Given the description of an element on the screen output the (x, y) to click on. 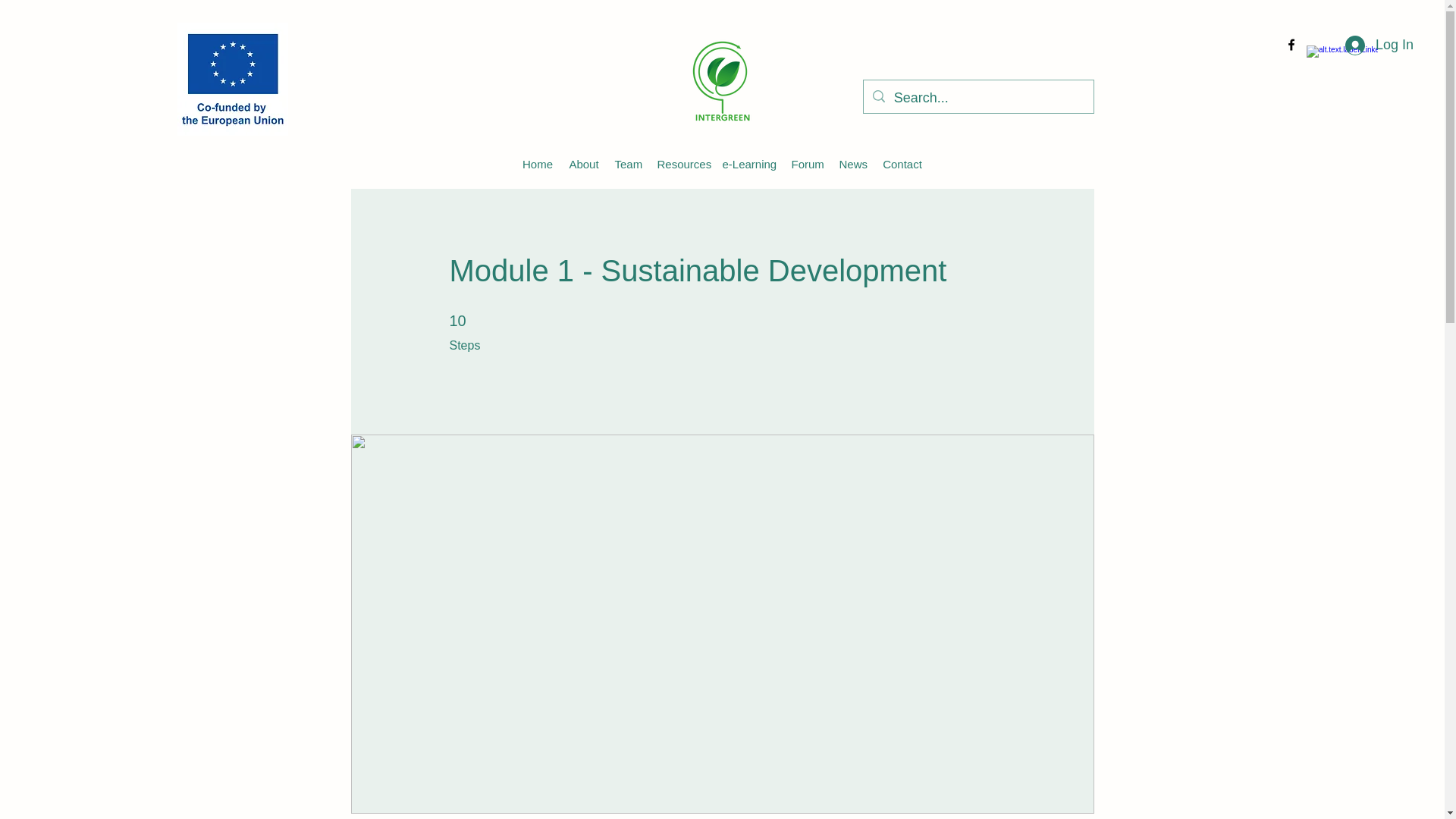
Log In (1366, 45)
Contact (902, 164)
Resources (681, 164)
News (853, 164)
e-Learning (748, 164)
Team (628, 164)
About (583, 164)
Forum (807, 164)
Home (536, 164)
